Given the description of an element on the screen output the (x, y) to click on. 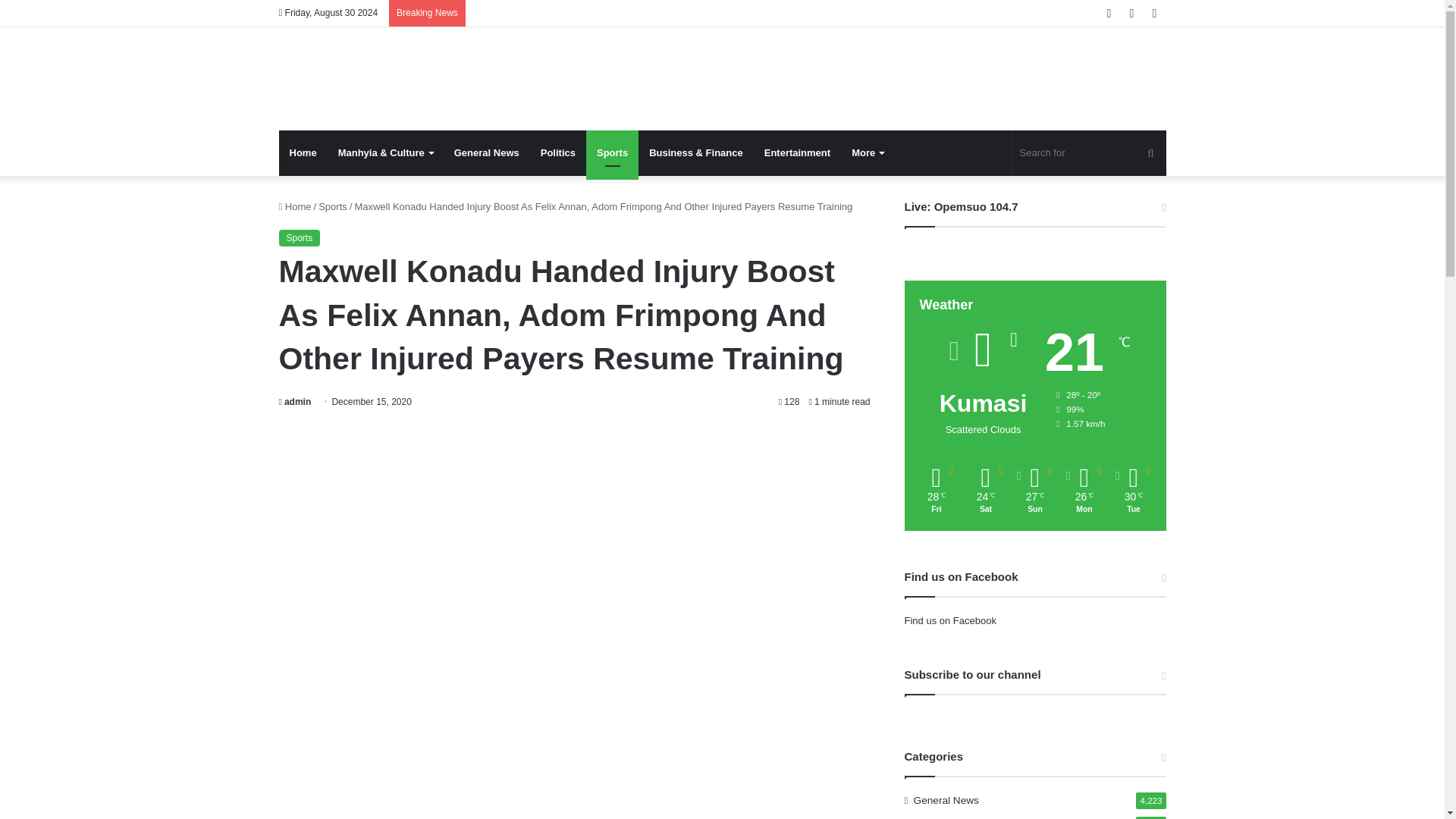
Sports (332, 206)
More (867, 153)
General News (486, 153)
admin (295, 401)
Politics (557, 153)
Home (303, 153)
Search for (1088, 153)
Sports (612, 153)
Entertainment (797, 153)
admin (295, 401)
